Given the description of an element on the screen output the (x, y) to click on. 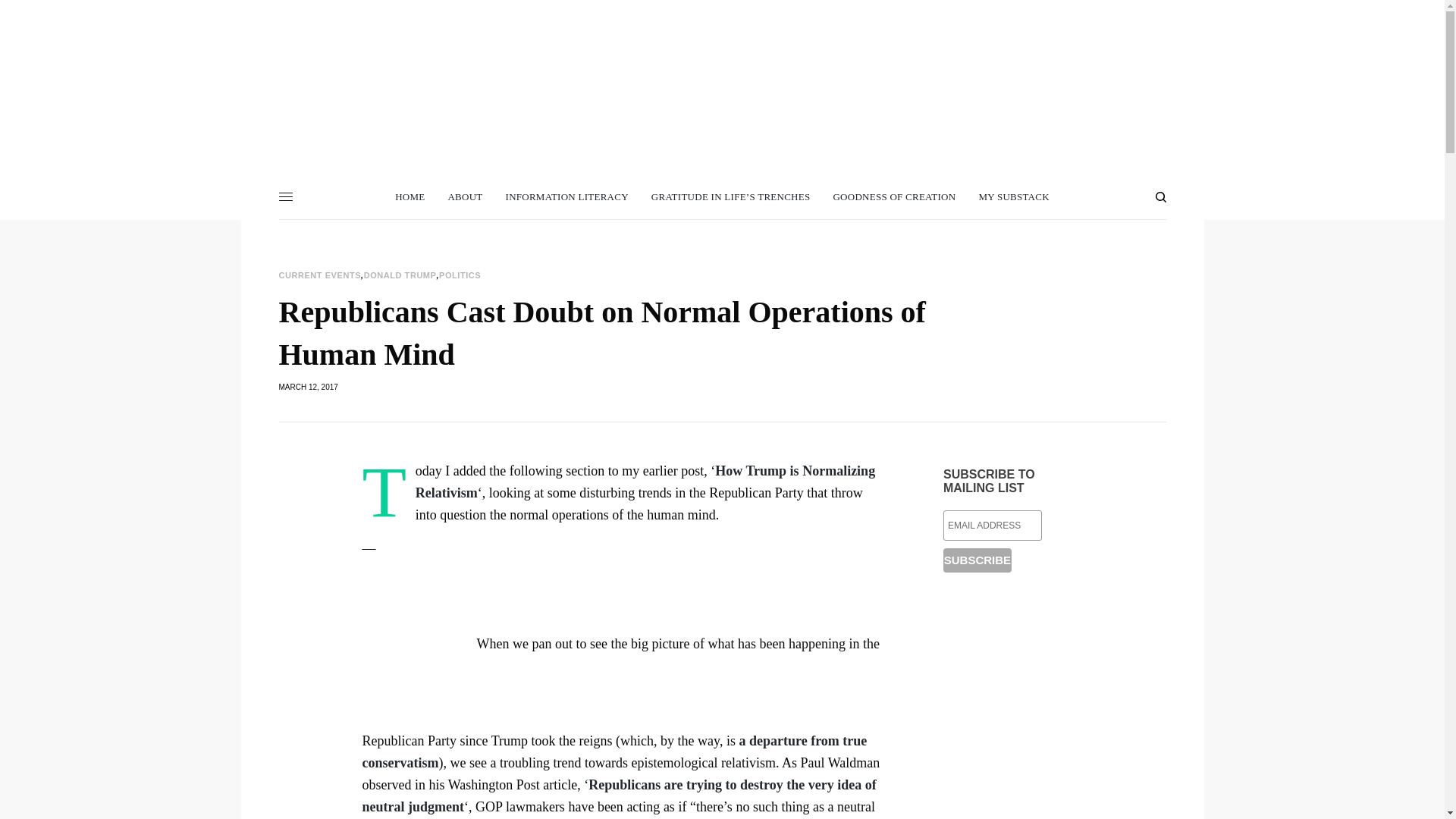
MY SUBSTACK (1013, 197)
How Trump is Normalizing Relativism (644, 481)
ABOUT (463, 197)
a departure from true conservatism (614, 751)
INFORMATION LITERACY (566, 197)
GOODNESS OF CREATION (893, 197)
Robin Mark Phillips (721, 71)
POLITICS (459, 275)
CURRENT EVENTS (320, 275)
DONALD TRUMP (400, 275)
Subscribe (977, 559)
Subscribe (977, 559)
HOME (409, 197)
